Given the description of an element on the screen output the (x, y) to click on. 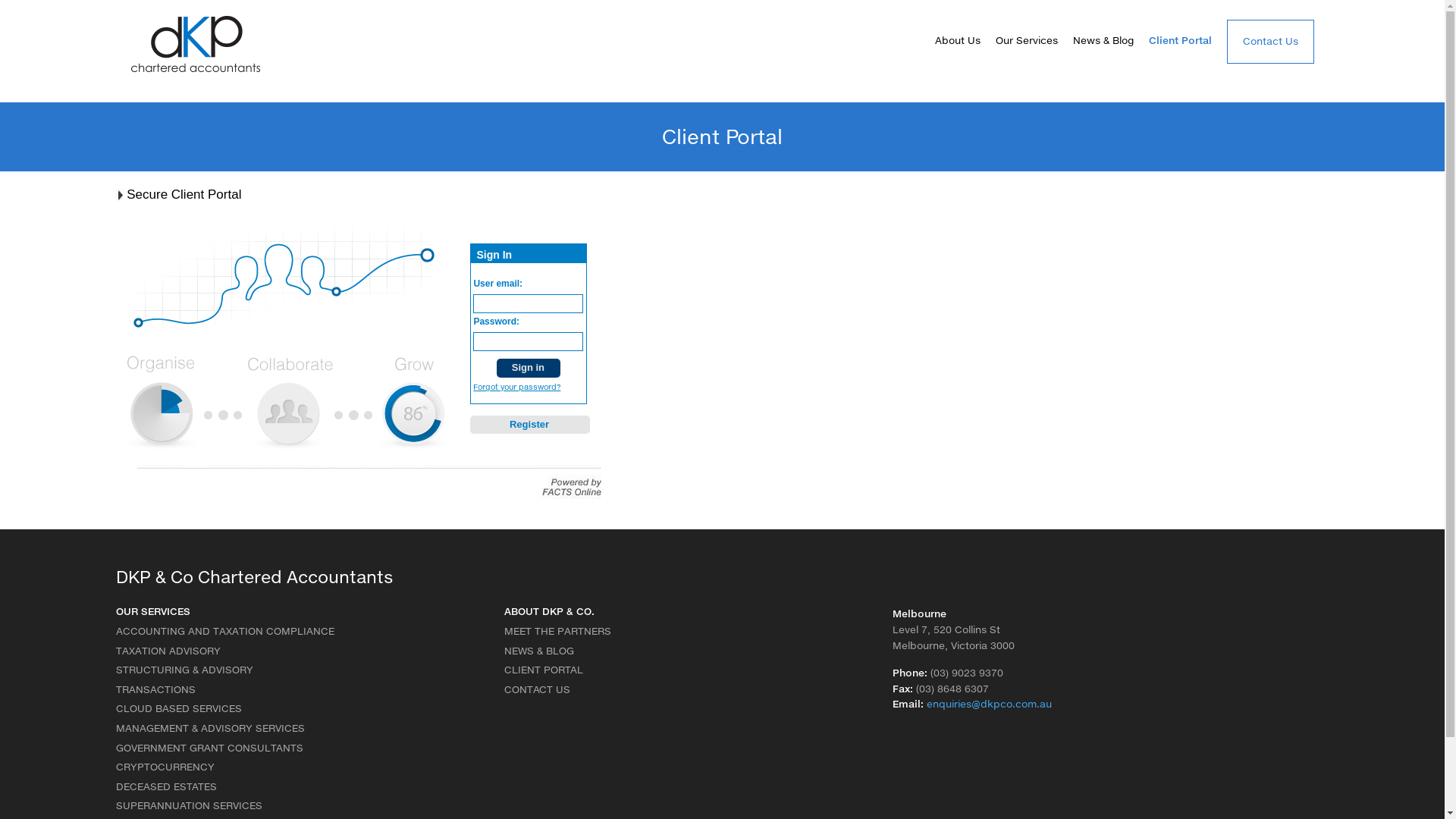
TRANSACTIONS Element type: text (154, 693)
About Us Element type: text (956, 40)
CLOUD BASED SERVICES Element type: text (178, 712)
DECEASED ESTATES Element type: text (165, 790)
TAXATION ADVISORY Element type: text (167, 655)
STRUCTURING & ADVISORY Element type: text (183, 674)
CLIENT PORTAL Element type: text (542, 674)
enquiries@dkpco.com.au Element type: text (988, 703)
Contact Us Element type: text (1270, 41)
OUR SERVICES Element type: text (152, 615)
Sign in Element type: text (528, 367)
Forgot your password? Element type: text (516, 386)
GOVERNMENT GRANT CONSULTANTS Element type: text (208, 752)
MANAGEMENT & ADVISORY SERVICES Element type: text (209, 732)
CRYPTOCURRENCY Element type: text (164, 771)
Client Portal Element type: text (1179, 40)
ABOUT DKP & CO. Element type: text (548, 615)
CONTACT US Element type: text (536, 693)
MEET THE PARTNERS Element type: text (556, 635)
News & Blog Element type: text (1102, 40)
ACCOUNTING AND TAXATION COMPLIANCE Element type: text (224, 635)
Our Services Element type: text (1025, 40)
NEWS & BLOG Element type: text (538, 655)
Register Element type: text (529, 424)
